Given the description of an element on the screen output the (x, y) to click on. 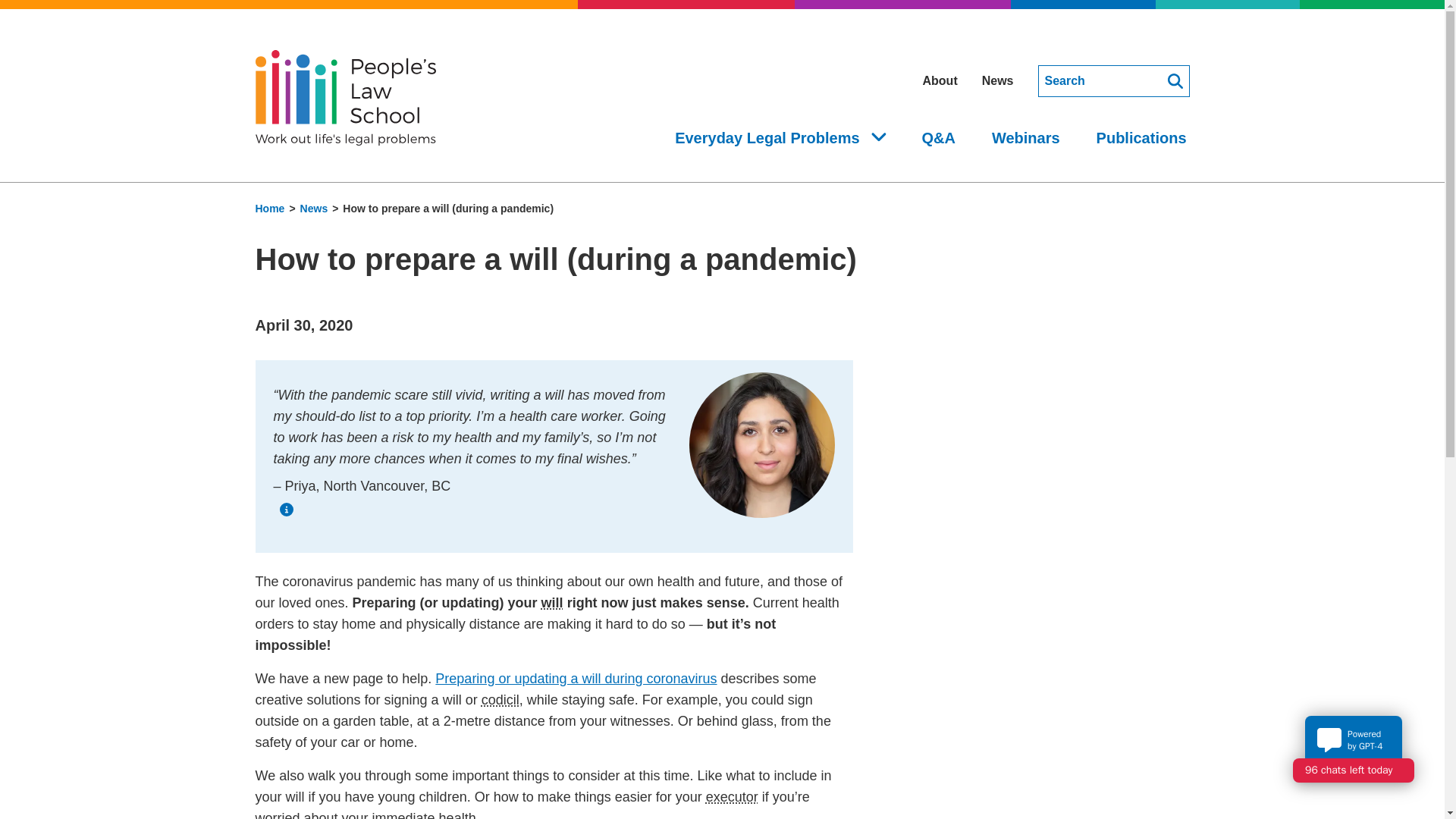
Search (1112, 81)
About (938, 80)
News (997, 80)
